Given the description of an element on the screen output the (x, y) to click on. 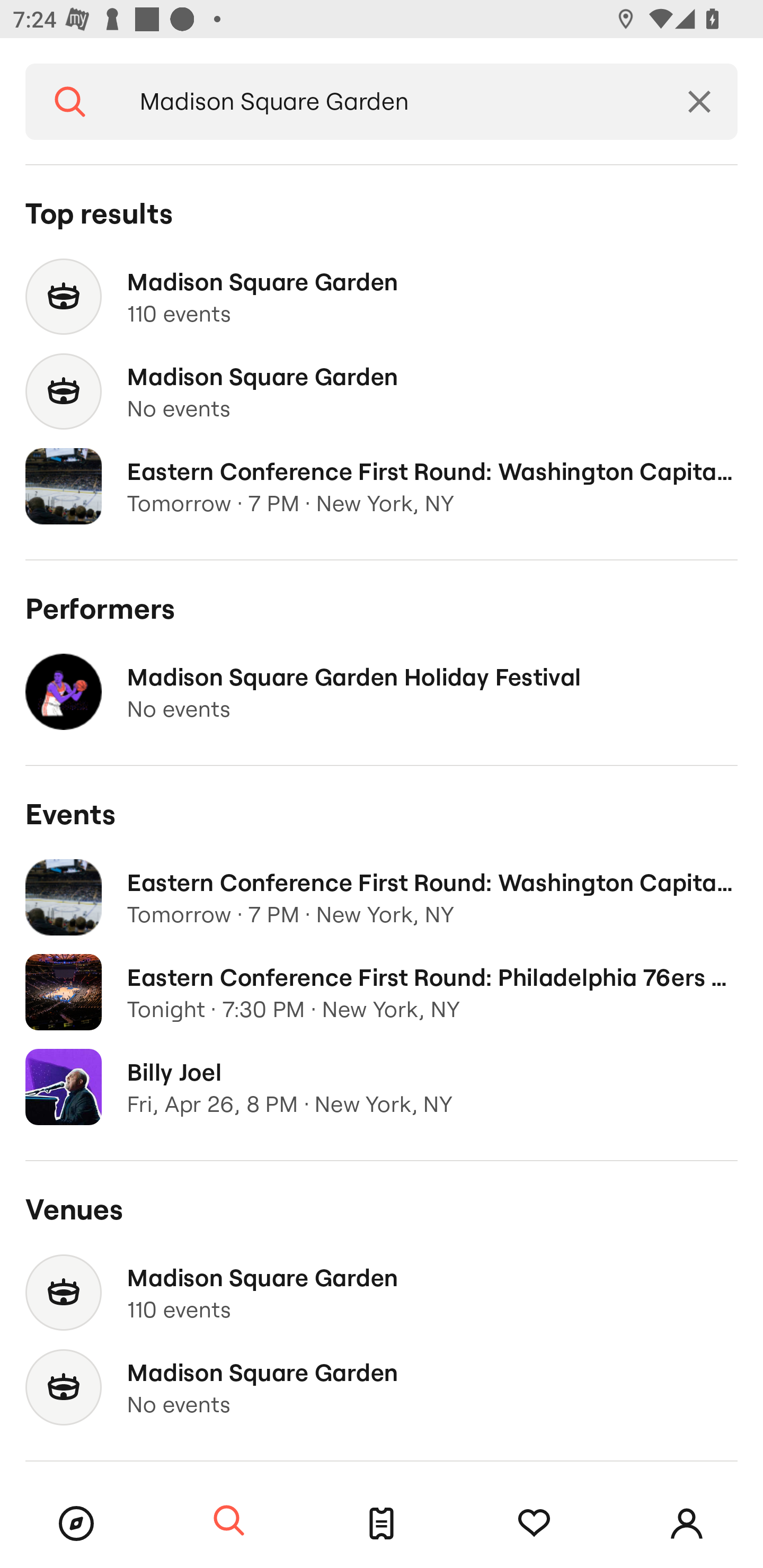
Search (69, 101)
Madison Square Garden (387, 101)
Clear (699, 101)
Madison Square Garden 110 events (381, 296)
Madison Square Garden No events (381, 391)
Madison Square Garden Holiday Festival No events (381, 692)
Billy Joel Fri, Apr 26, 8 PM · New York, NY (381, 1087)
Madison Square Garden 110 events (381, 1292)
Madison Square Garden No events (381, 1387)
Browse (76, 1523)
Search (228, 1521)
Tickets (381, 1523)
Tracking (533, 1523)
Account (686, 1523)
